Given the description of an element on the screen output the (x, y) to click on. 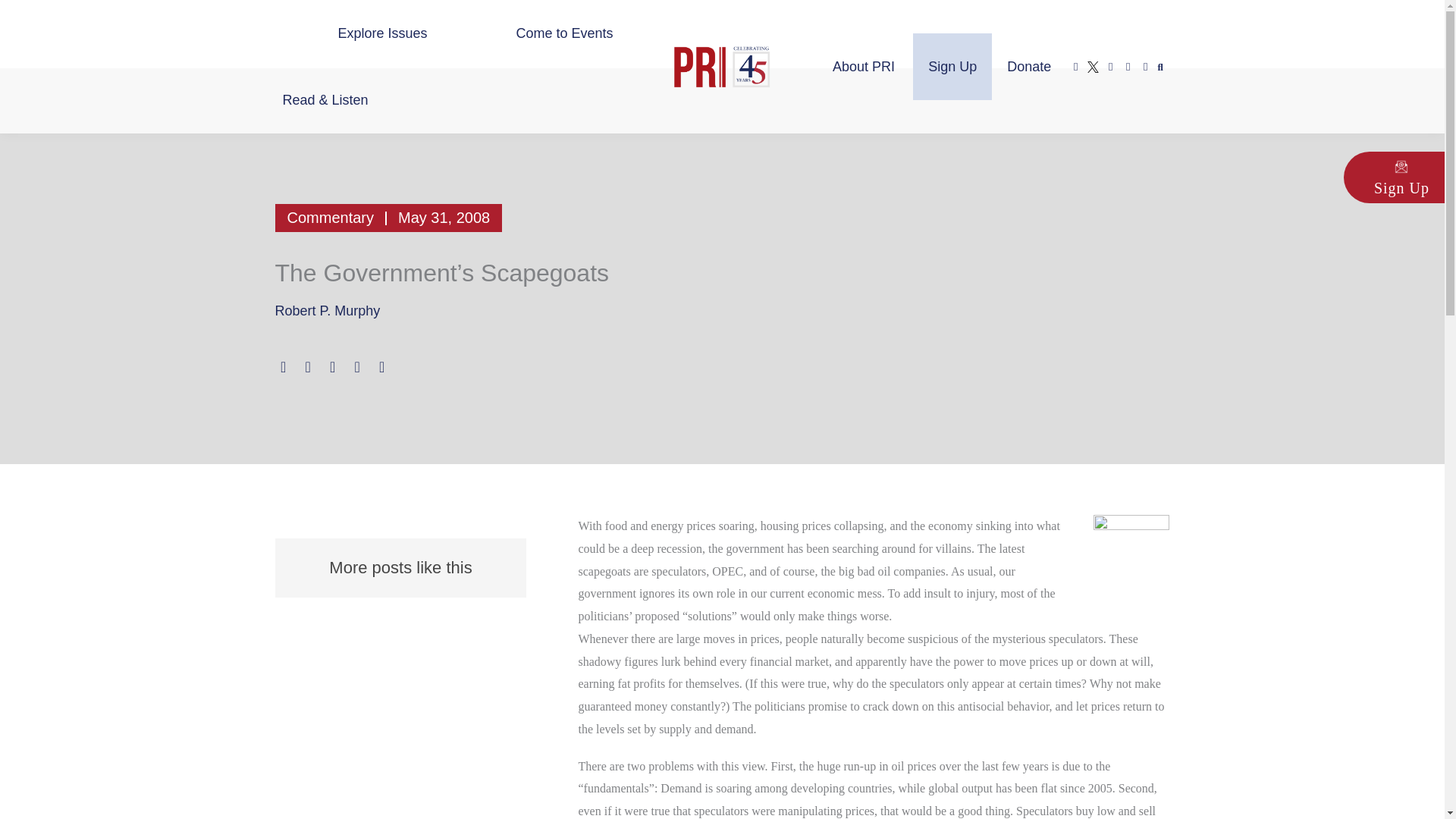
Explore Issues (381, 33)
Come to Events (563, 33)
